Given the description of an element on the screen output the (x, y) to click on. 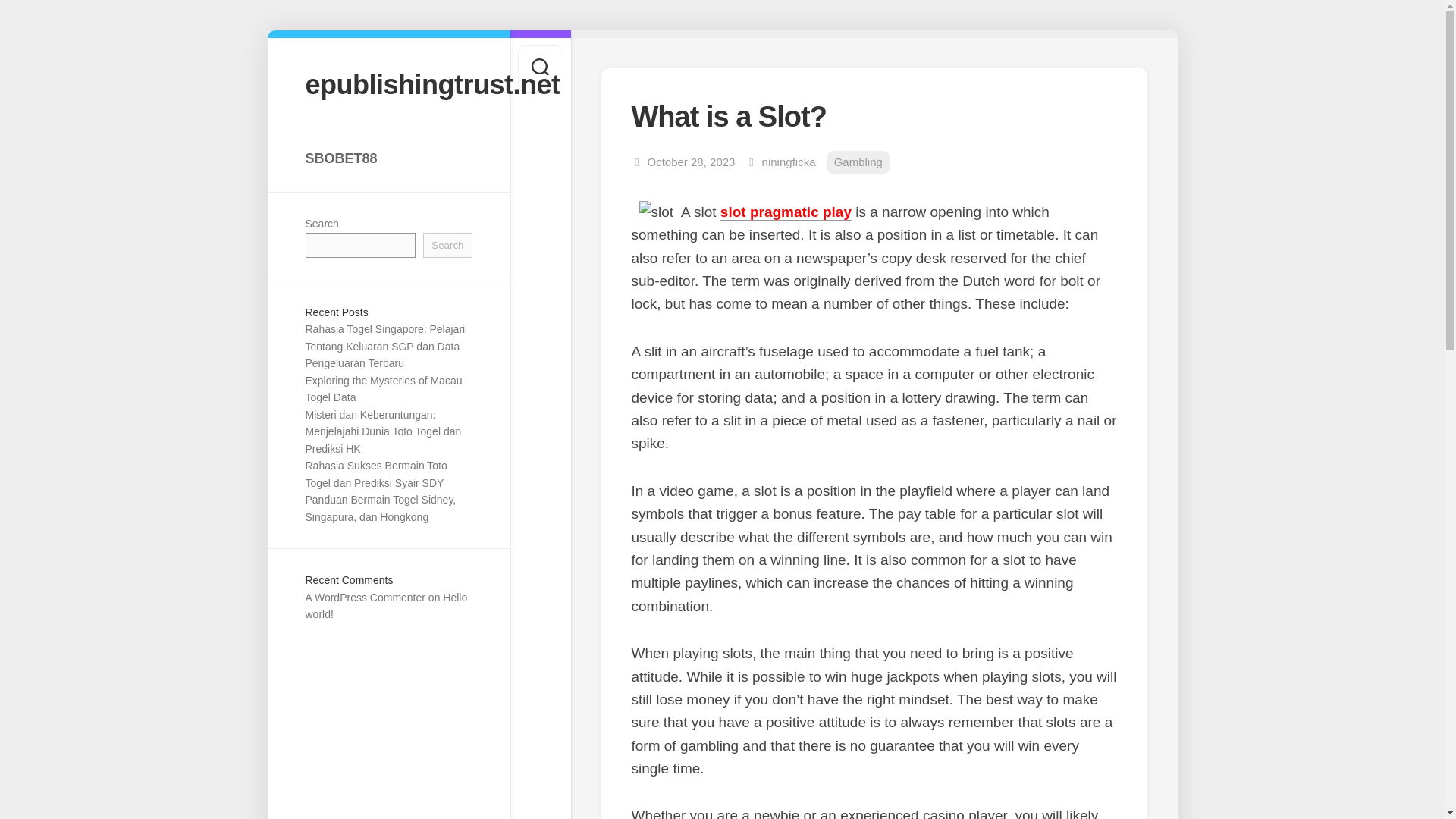
epublishingtrust.net (387, 83)
SBOBET88 (387, 158)
Panduan Bermain Togel Sidney, Singapura, dan Hongkong (379, 508)
Posts by niningficka (788, 161)
A WordPress Commenter (364, 597)
Exploring the Mysteries of Macau Togel Data (382, 389)
Rahasia Sukses Bermain Toto Togel dan Prediksi Syair SDY (375, 473)
niningficka (788, 161)
Search (447, 244)
slot pragmatic play (785, 211)
Gambling (858, 162)
Hello world! (385, 605)
